Given the description of an element on the screen output the (x, y) to click on. 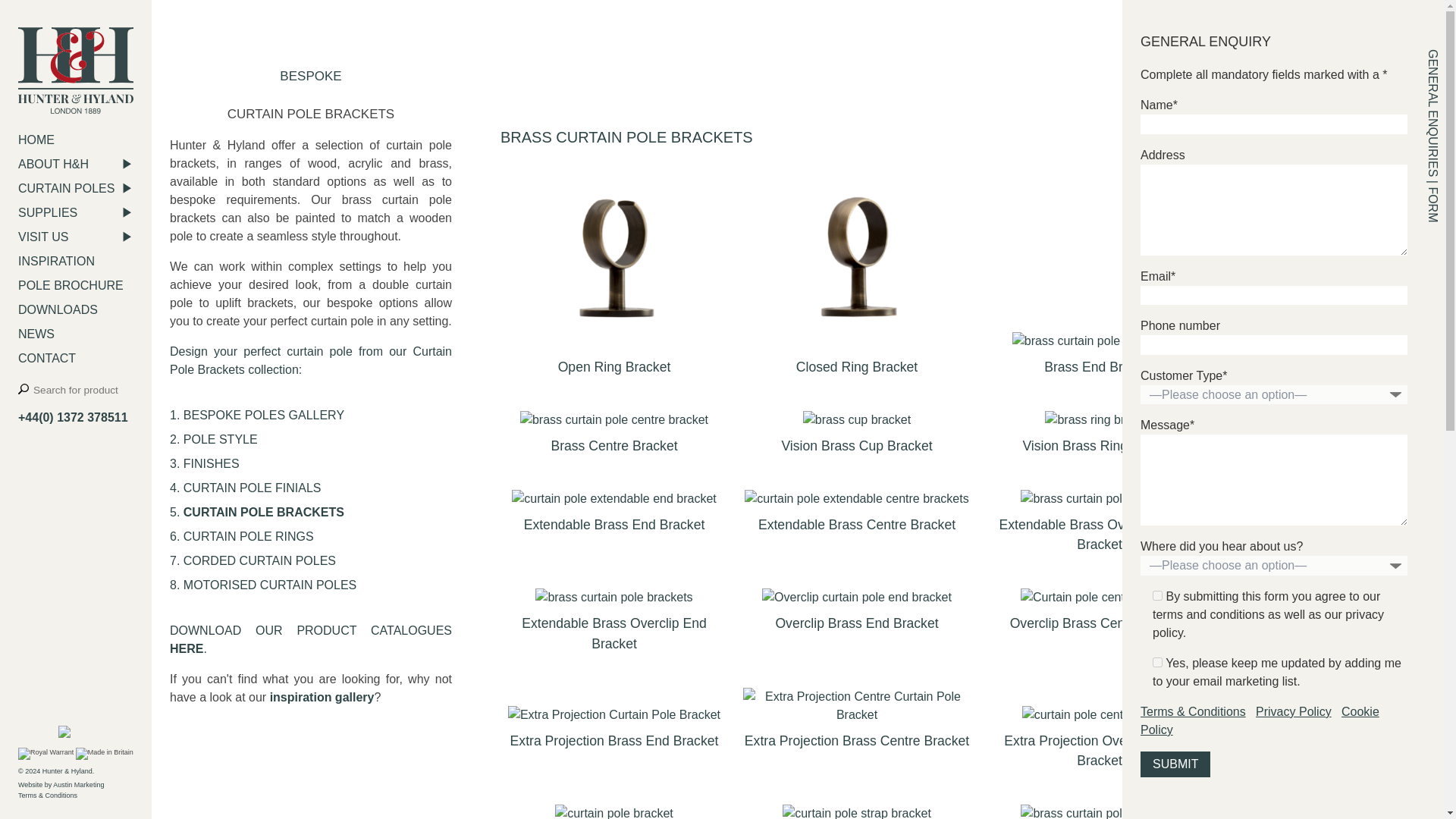
Extra Projection Brass End Bracket (614, 731)
Brass End Bracket (1098, 358)
Overclip Brass End Bracket (856, 613)
Extra Projection Overclip Centre Bracket (1098, 741)
Extendable Brass End Bracket (614, 515)
Inspiration Gallery (321, 697)
Vision Brass Ring Bracket (1098, 436)
Extendable Brass Overclip End Bracket (614, 624)
Overclip Brass Centre Bracket (1098, 613)
HOME (75, 139)
Brass Passover Bracket (614, 811)
Downloads (186, 648)
Brass Centre Bracket (614, 436)
Open Ring Bracket (614, 279)
Vision Brass Cup Bracket (856, 436)
